Given the description of an element on the screen output the (x, y) to click on. 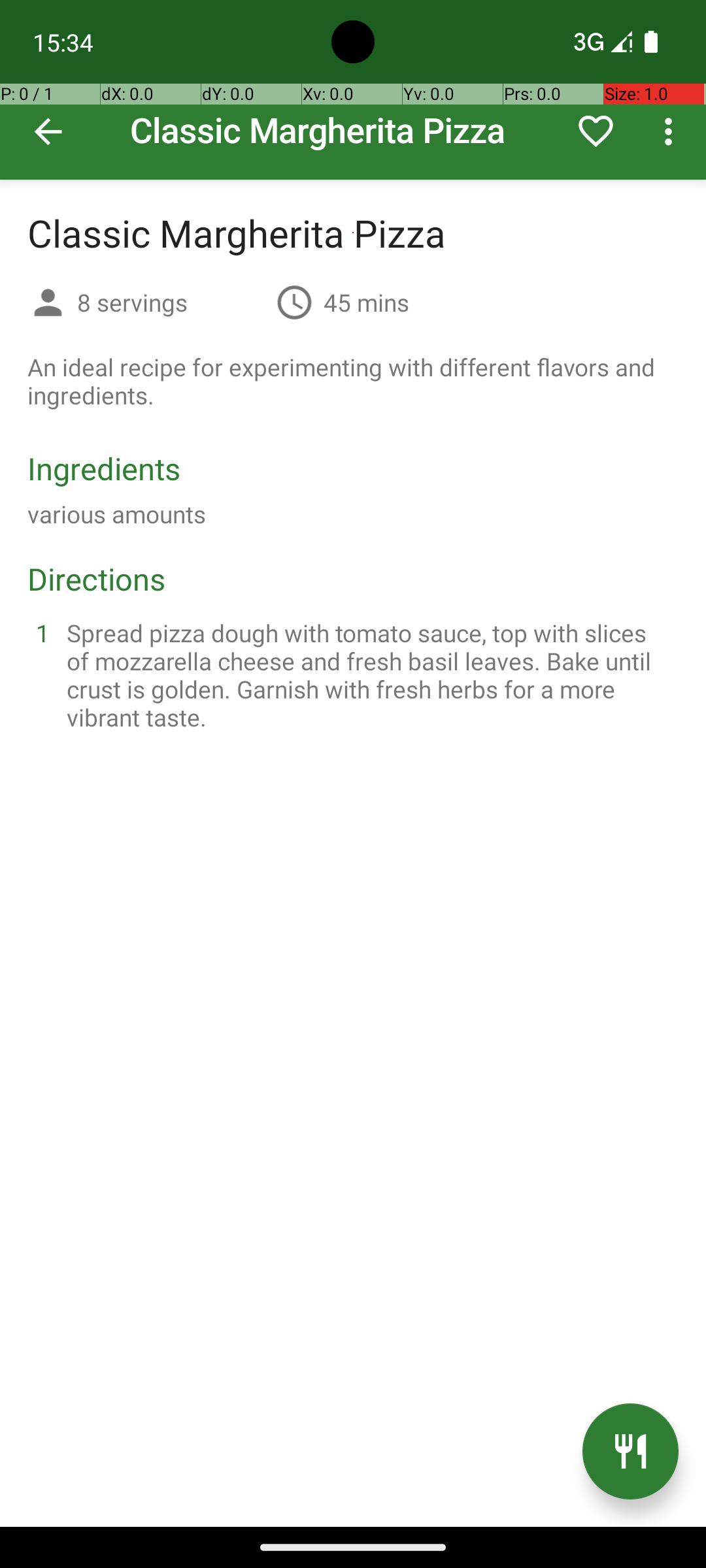
Spread pizza dough with tomato sauce, top with slices of mozzarella cheese and fresh basil leaves. Bake until crust is golden. Garnish with fresh herbs for a more vibrant taste. Element type: android.widget.TextView (368, 674)
